Given the description of an element on the screen output the (x, y) to click on. 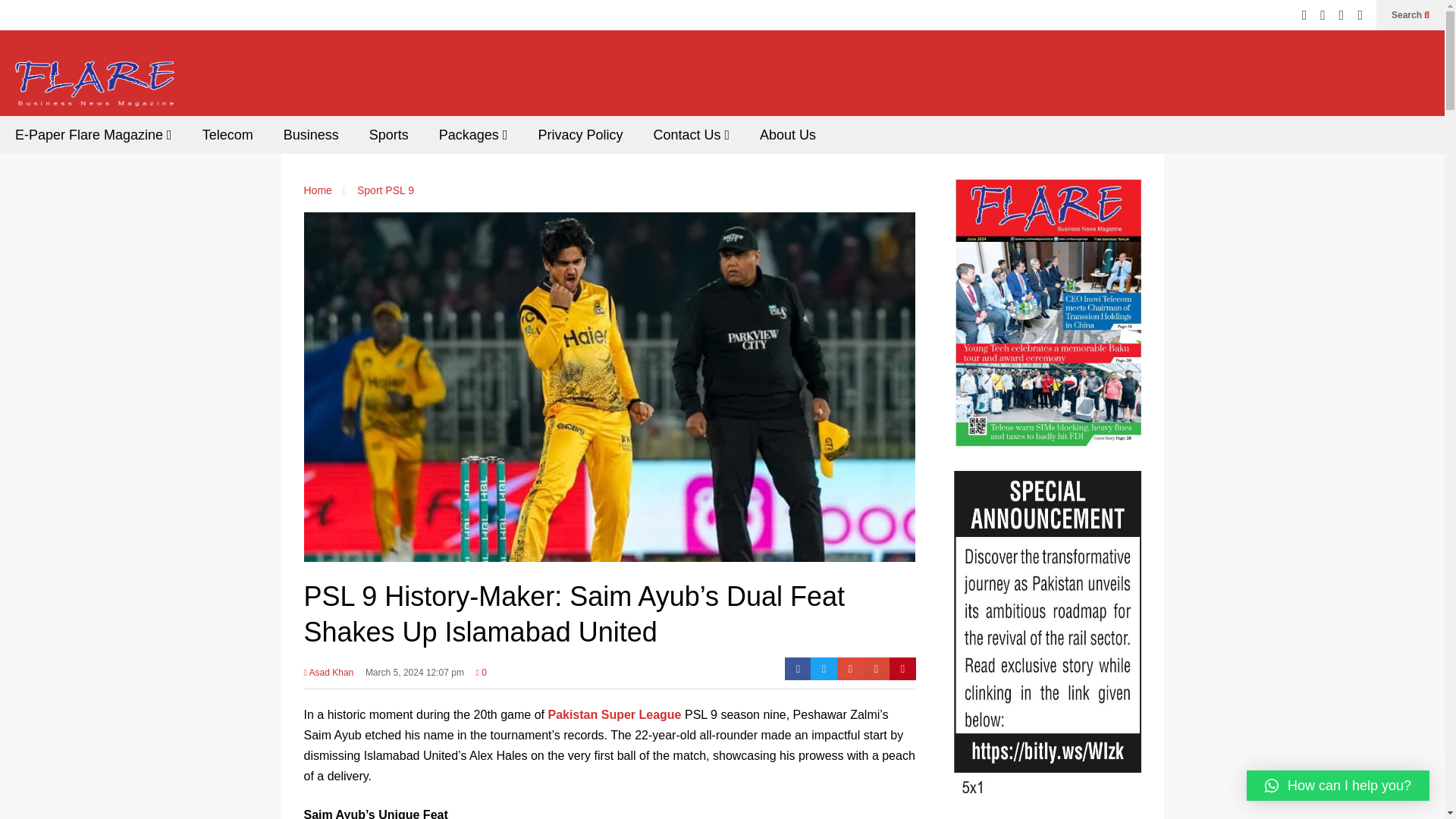
E-Paper Flare Magazine (93, 134)
E-mail (876, 668)
Google-plus (850, 668)
Facebook (797, 668)
Twitter (823, 668)
Technology and Business News from Pakistan (94, 88)
Search (1410, 15)
Pinterest (902, 668)
